Given the description of an element on the screen output the (x, y) to click on. 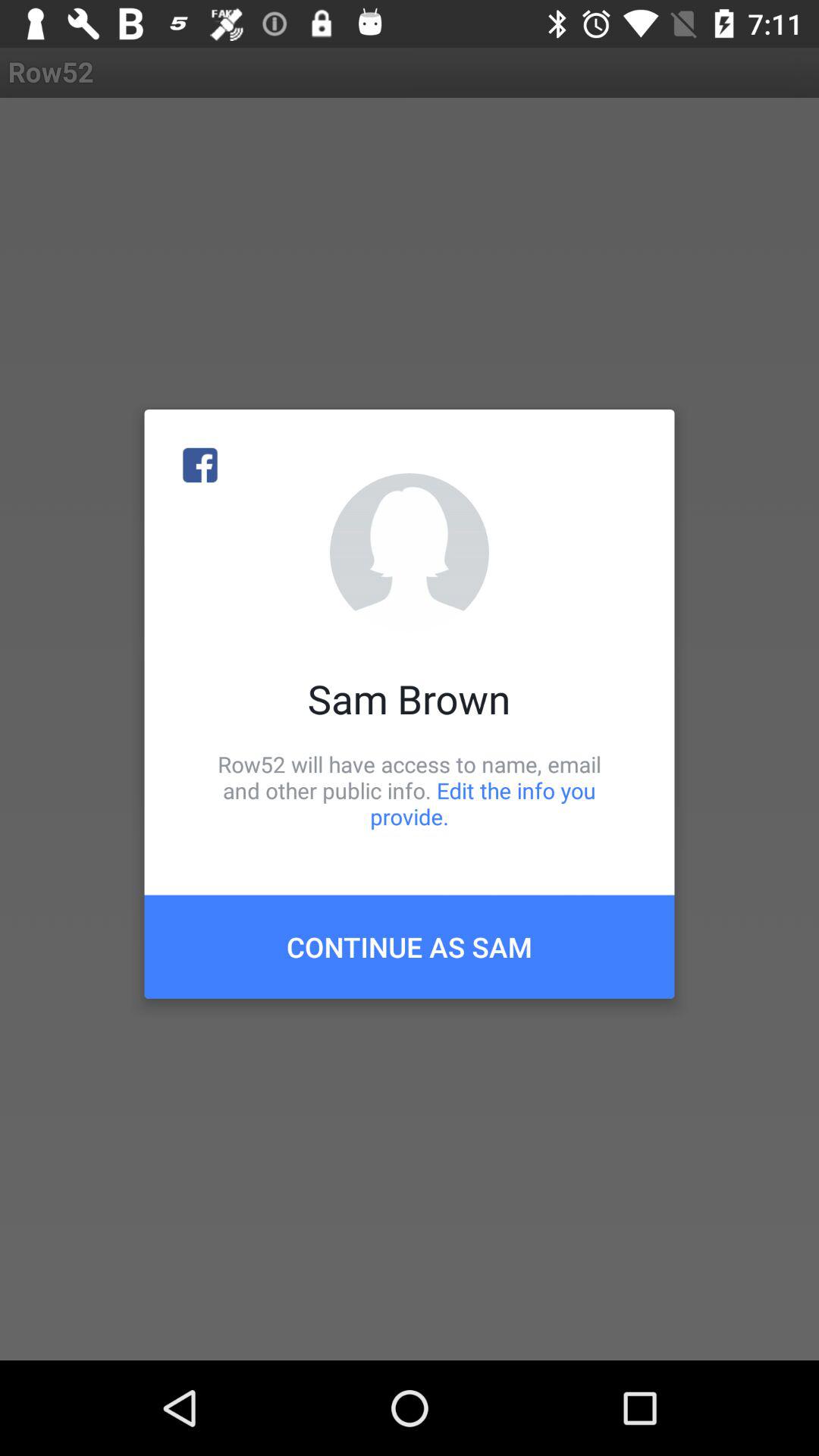
press the row52 will have (409, 790)
